Given the description of an element on the screen output the (x, y) to click on. 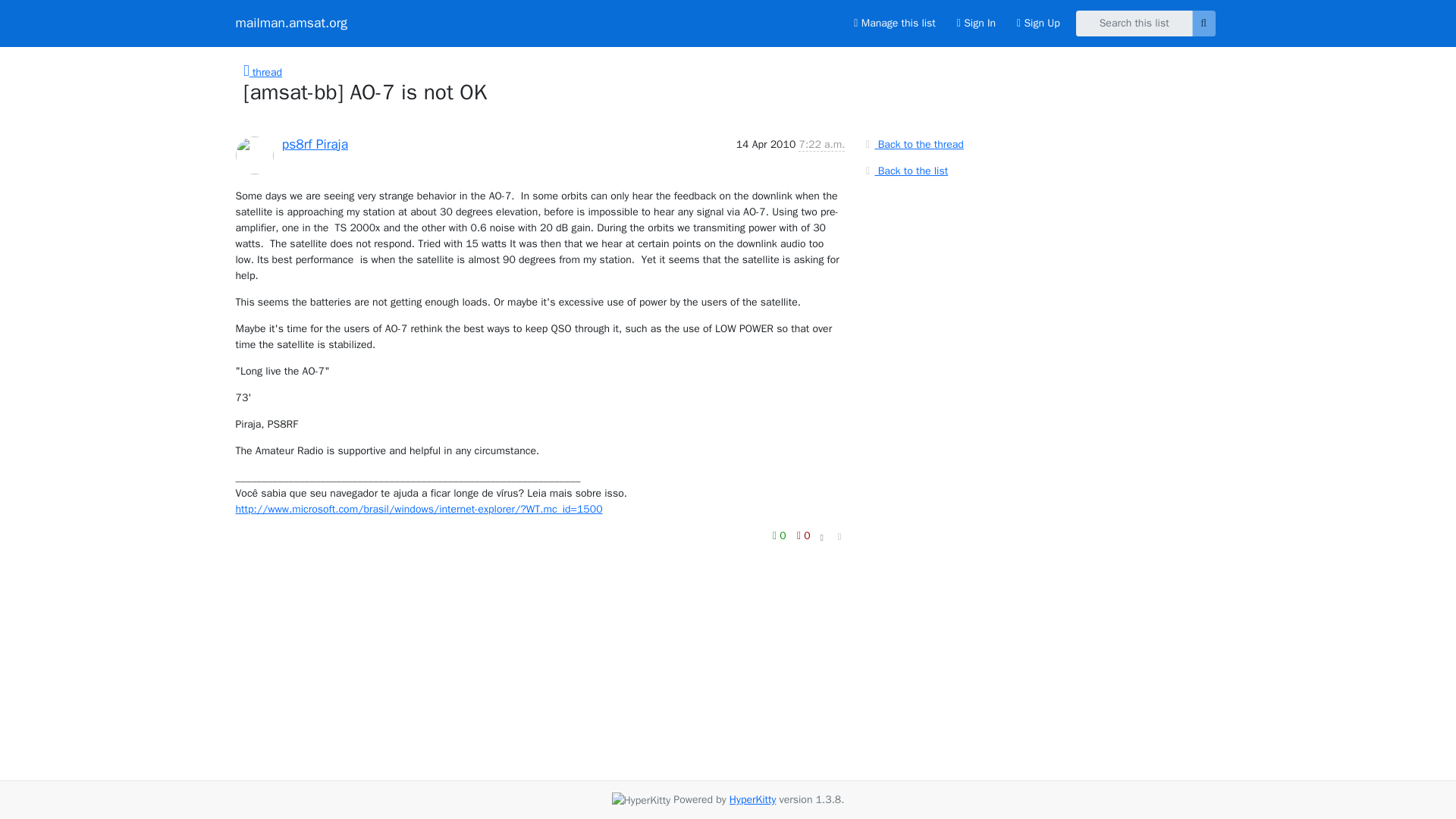
You must be logged-in to vote. (803, 534)
See the profile for ps8rf Piraja (314, 143)
You must be logged-in to vote. (780, 534)
Back to the thread (911, 144)
Sign Up (1038, 22)
Sender's time: April 14, 2010, 2:22 p.m. (820, 144)
Back to the list (903, 169)
ps8rf Piraja (314, 143)
mailman.amsat.org (290, 23)
0 (780, 534)
Sign In (976, 22)
0 (803, 534)
thread (262, 72)
Manage this list (893, 22)
HyperKitty (752, 799)
